Given the description of an element on the screen output the (x, y) to click on. 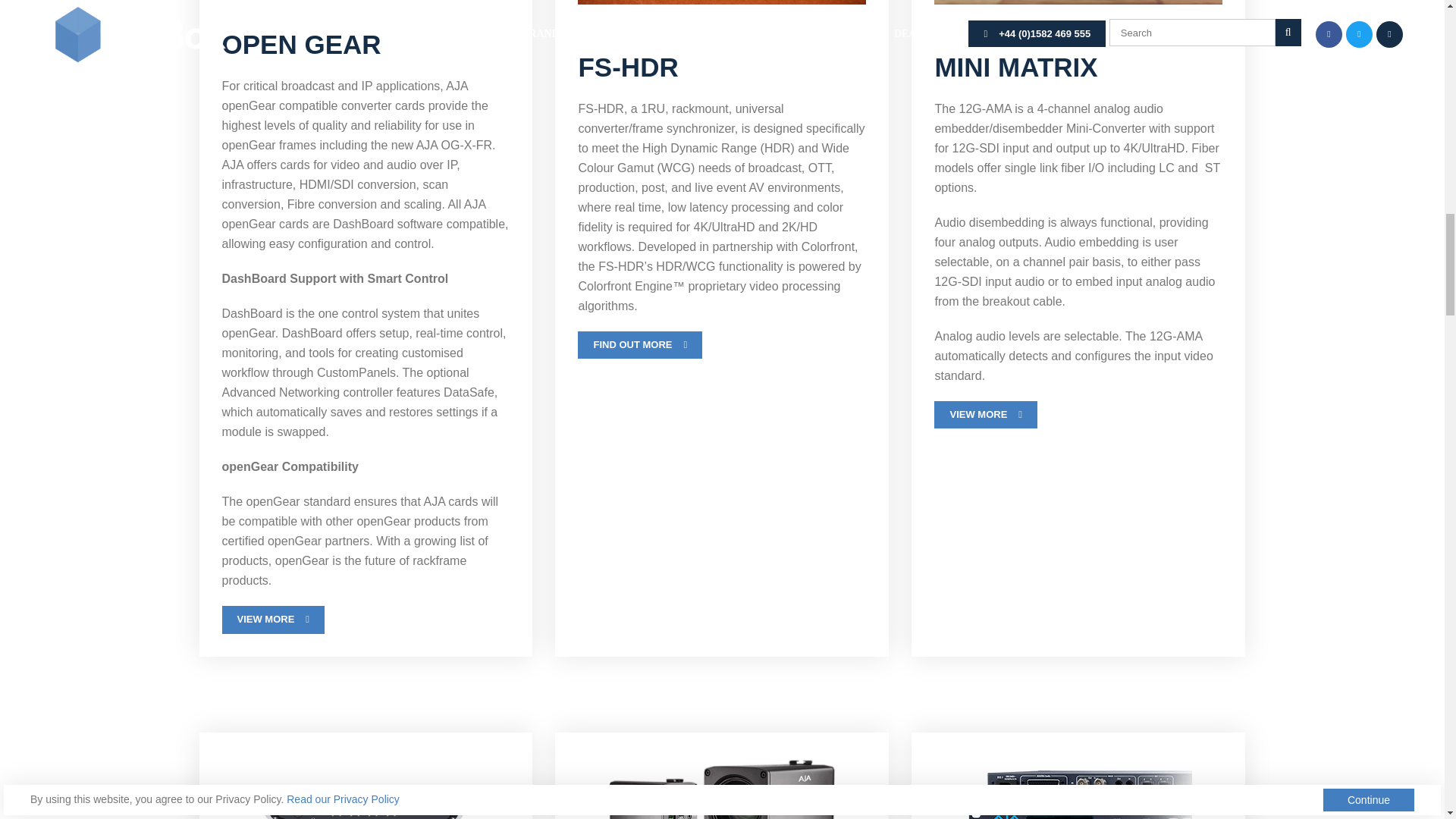
FIND OUT MORE (639, 344)
VIEW MORE (272, 619)
VIEW MORE (985, 414)
